Given the description of an element on the screen output the (x, y) to click on. 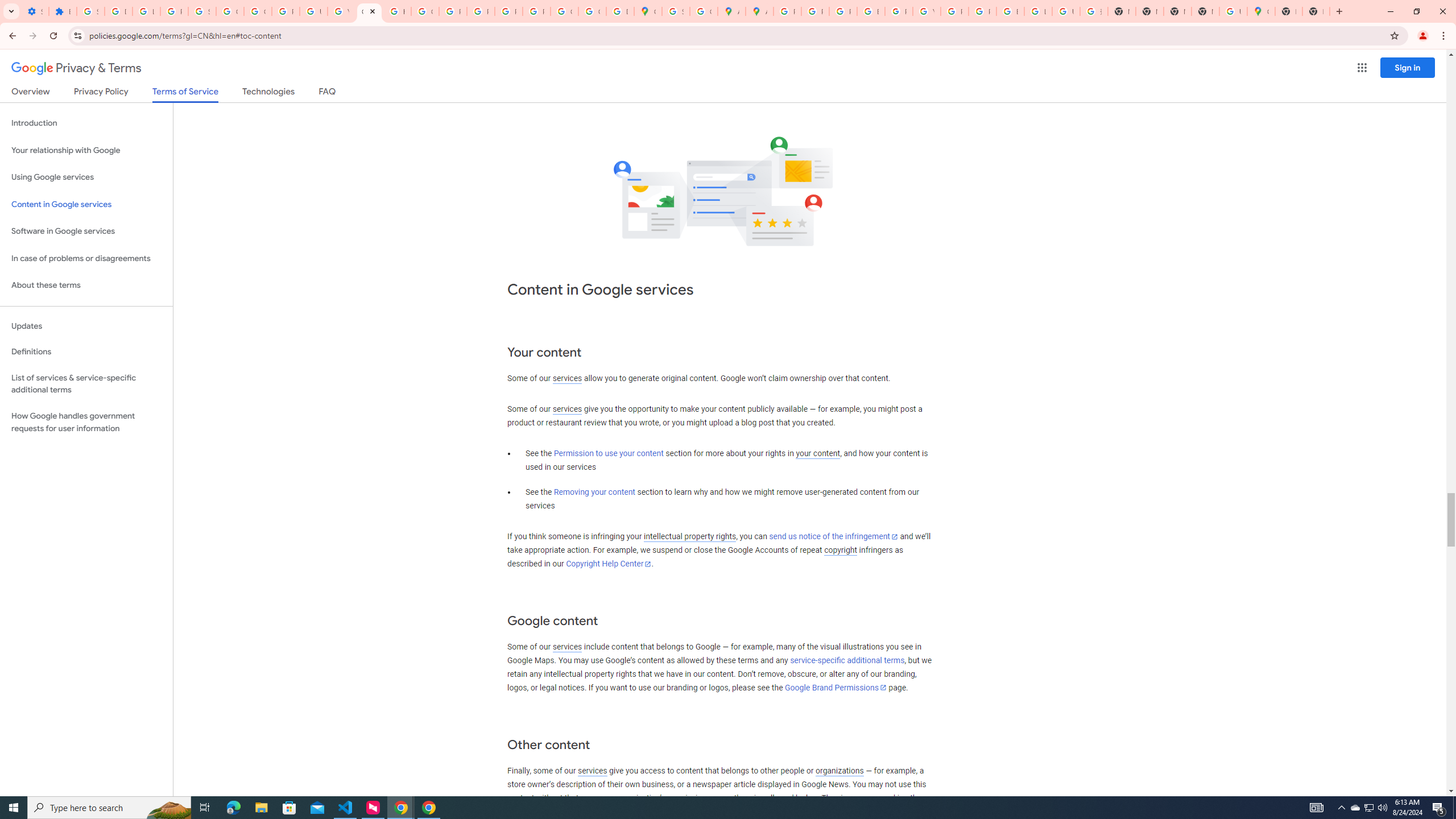
New Tab (1316, 11)
